Given the description of an element on the screen output the (x, y) to click on. 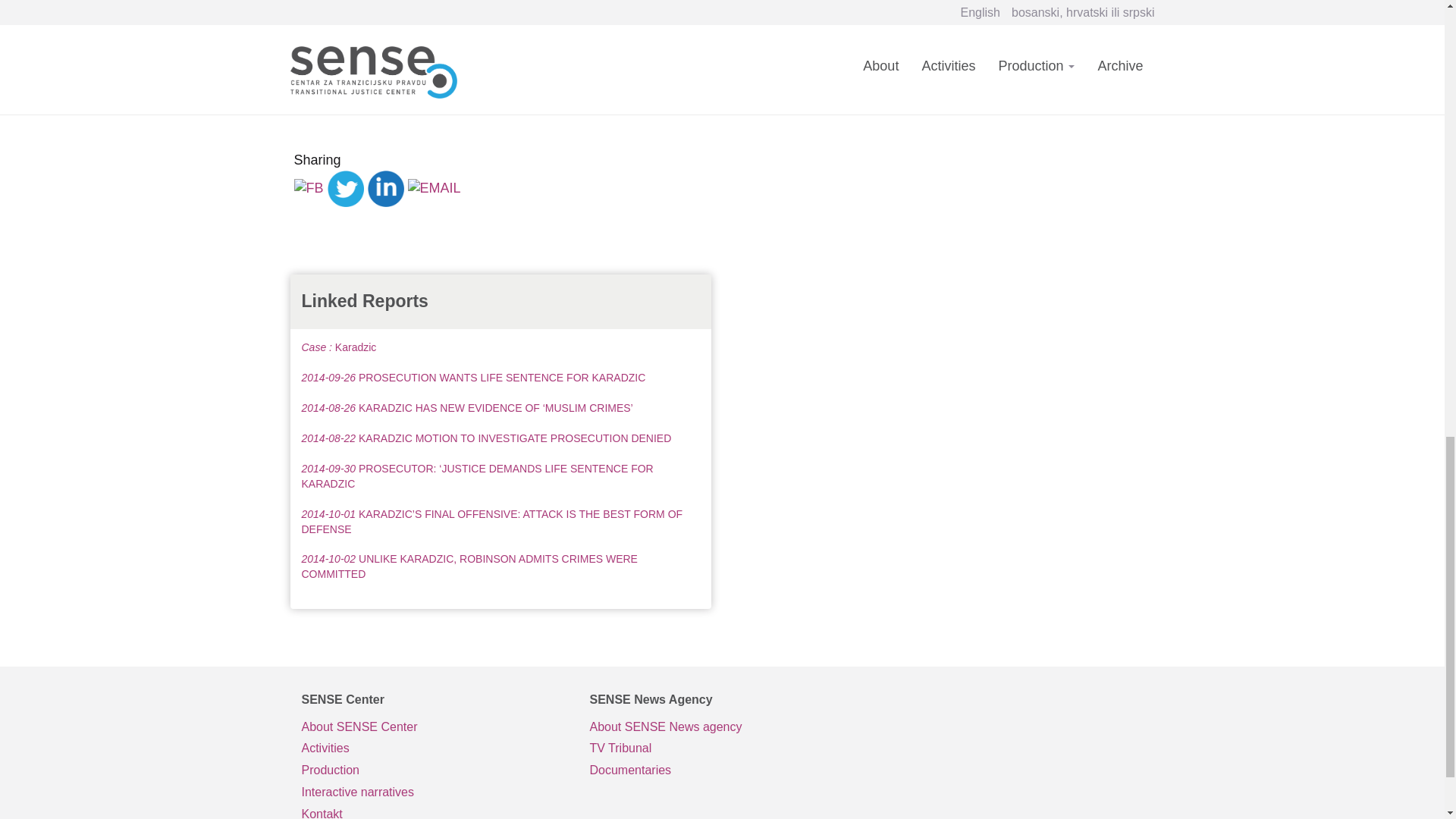
Production (434, 771)
2014-08-22 KARADZIC MOTION TO INVESTIGATE PROSECUTION DENIED (486, 438)
In Bosnian, Croatian or Serbian langauge (721, 748)
Activities (434, 748)
About SENSE Center (434, 727)
Documentaries (721, 771)
About SENSE News agency (721, 727)
2014-09-26 PROSECUTION WANTS LIFE SENTENCE FOR KARADZIC (473, 377)
TV Tribunal (721, 748)
Case : Karadzic (339, 346)
Interactive narratives (434, 792)
